Given the description of an element on the screen output the (x, y) to click on. 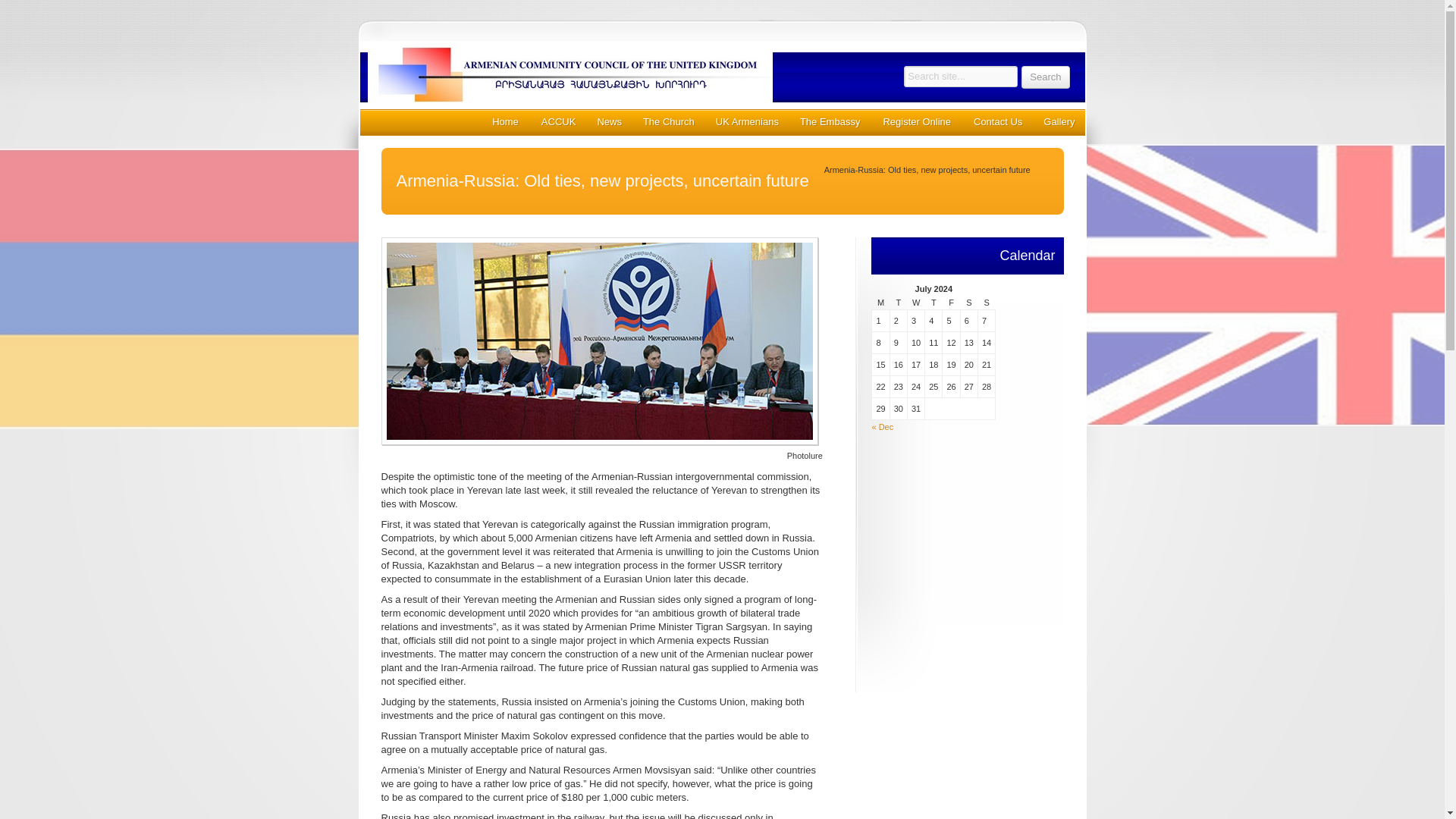
Home (504, 121)
Search site... (960, 76)
News (608, 121)
ACCUK (557, 121)
Search (1045, 77)
Search (1045, 77)
UK Armenians (746, 121)
The Church (667, 121)
Armenian Community Council of the United Kingdom (613, 74)
